Given the description of an element on the screen output the (x, y) to click on. 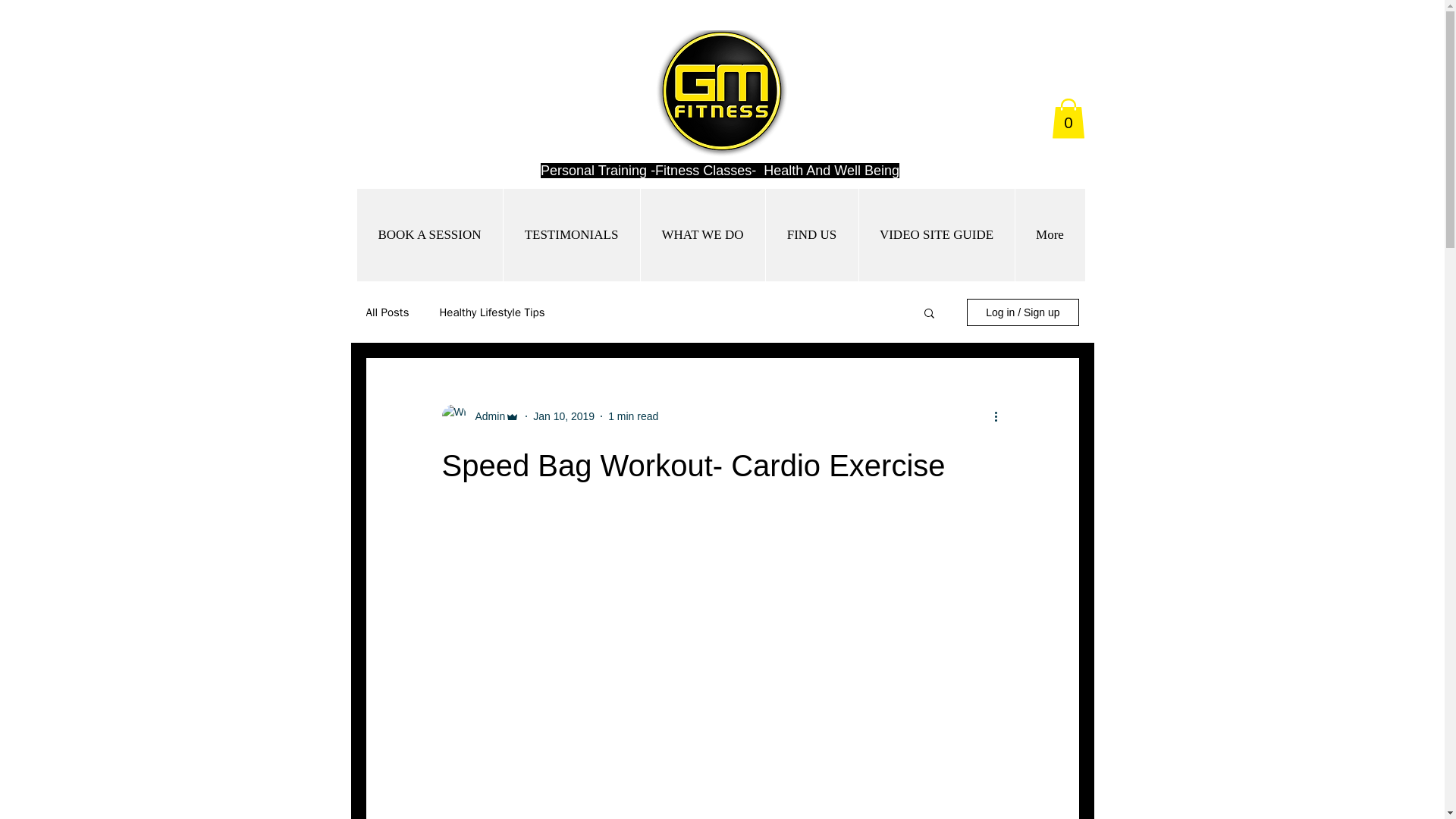
Jan 10, 2019 (563, 415)
Personal Training -Fitness Classes-  Health And Well Being (719, 170)
TESTIMONIALS (570, 235)
Admin (485, 415)
FIND US (810, 235)
VIDEO SITE GUIDE (936, 235)
WHAT WE DO (702, 235)
1 min read (633, 415)
BOOK A SESSION (429, 235)
